Given the description of an element on the screen output the (x, y) to click on. 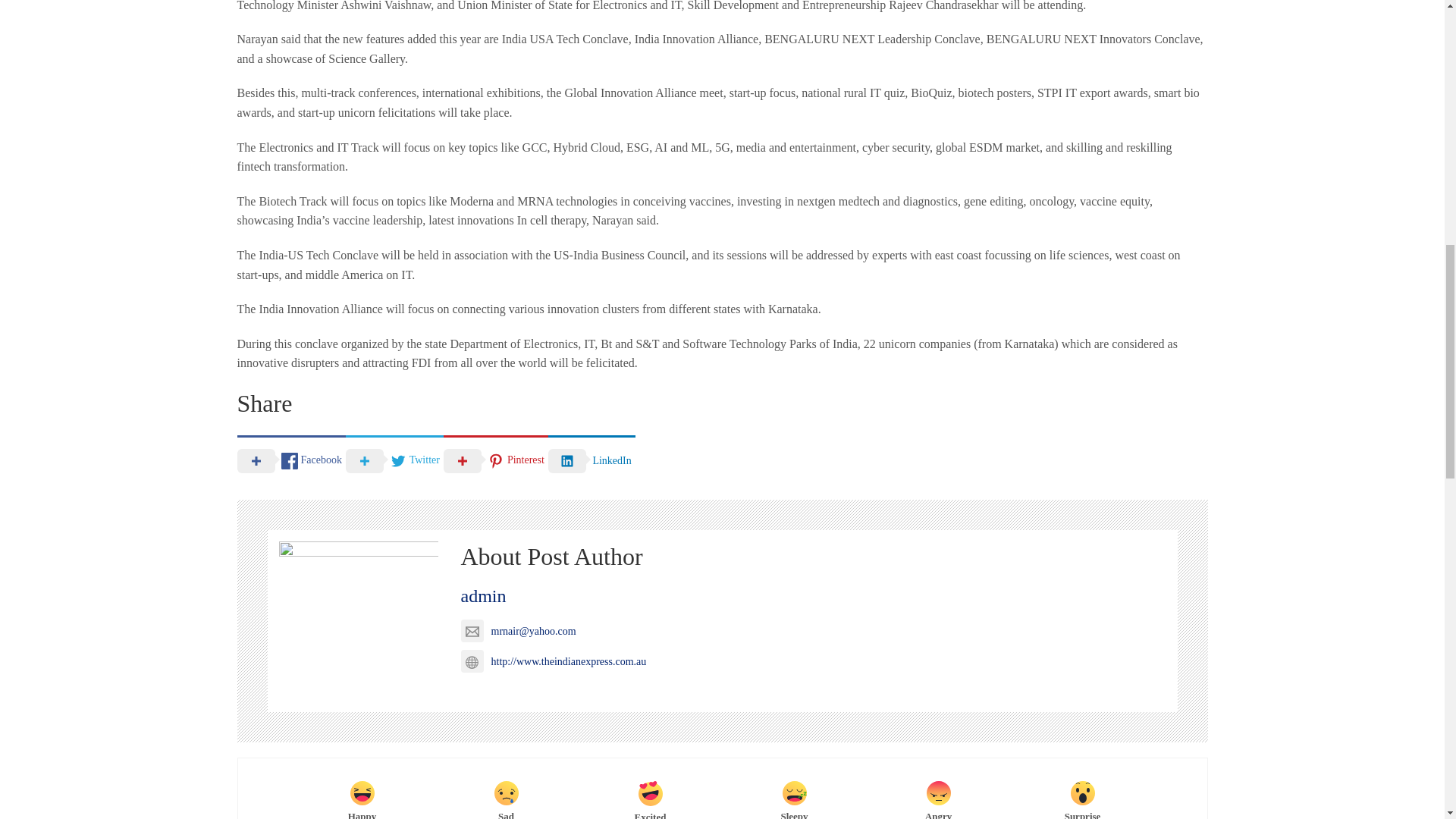
Twitter (395, 459)
admin (483, 596)
Facebook (290, 459)
LinkedIn (591, 459)
Pinterest (496, 459)
